Given the description of an element on the screen output the (x, y) to click on. 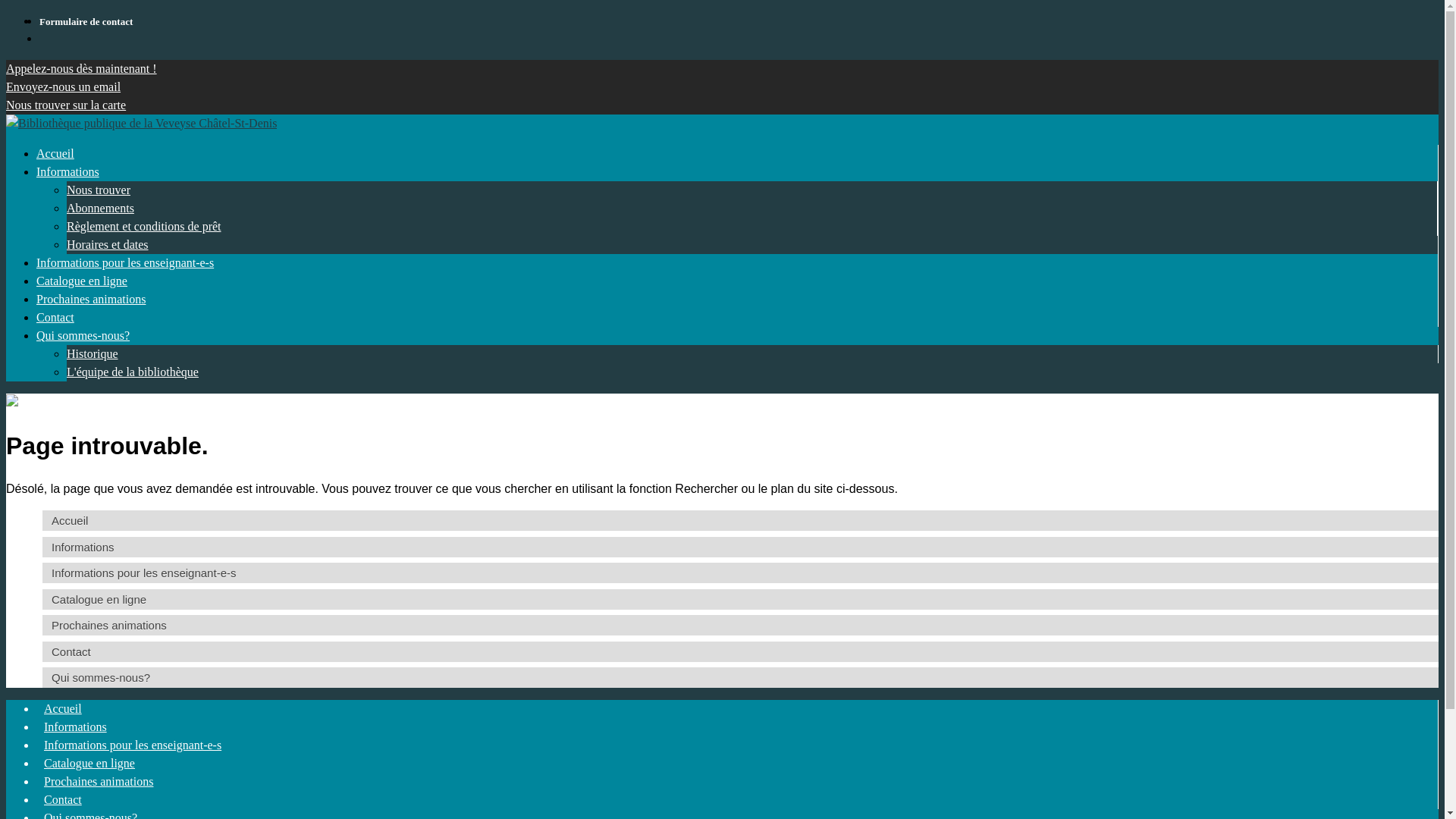
Informations pour les enseignant-e-s Element type: text (740, 572)
Informations Element type: text (75, 726)
Abonnements Element type: text (100, 207)
Informations Element type: text (67, 171)
Catalogue en ligne Element type: text (740, 599)
Accueil Element type: text (55, 153)
Nous trouver Element type: text (98, 189)
Accueil Element type: text (62, 708)
Informations Element type: text (740, 546)
Informations pour les enseignant-e-s Element type: text (132, 745)
Horaires et dates Element type: text (107, 244)
Catalogue en ligne Element type: text (81, 280)
Catalogue en ligne Element type: text (89, 763)
Accueil Element type: text (740, 520)
Historique Element type: text (92, 353)
Prochaines animations Element type: text (98, 781)
Contact Element type: text (55, 316)
Prochaines animations Element type: text (90, 298)
Contact Element type: text (740, 651)
Envoyez-nous un email Element type: text (63, 86)
Qui sommes-nous? Element type: text (82, 335)
Nous trouver sur la carte Element type: text (65, 104)
Prochaines animations Element type: text (740, 625)
Qui sommes-nous? Element type: text (740, 677)
Informations pour les enseignant-e-s Element type: text (124, 262)
Contact Element type: text (62, 799)
